Given the description of an element on the screen output the (x, y) to click on. 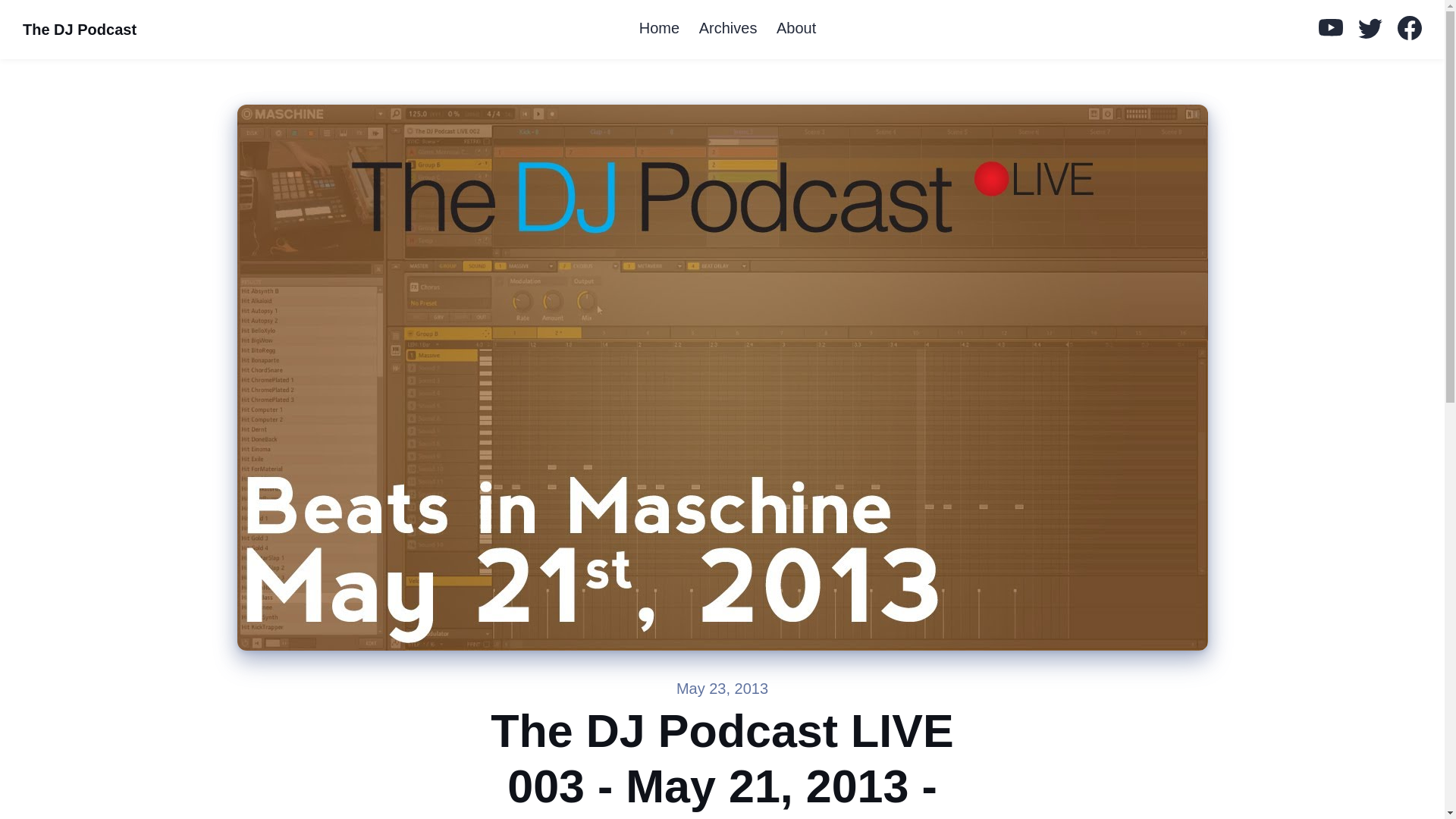
The DJ Podcast (79, 30)
Archives (728, 29)
Home (659, 29)
About (796, 29)
